Given the description of an element on the screen output the (x, y) to click on. 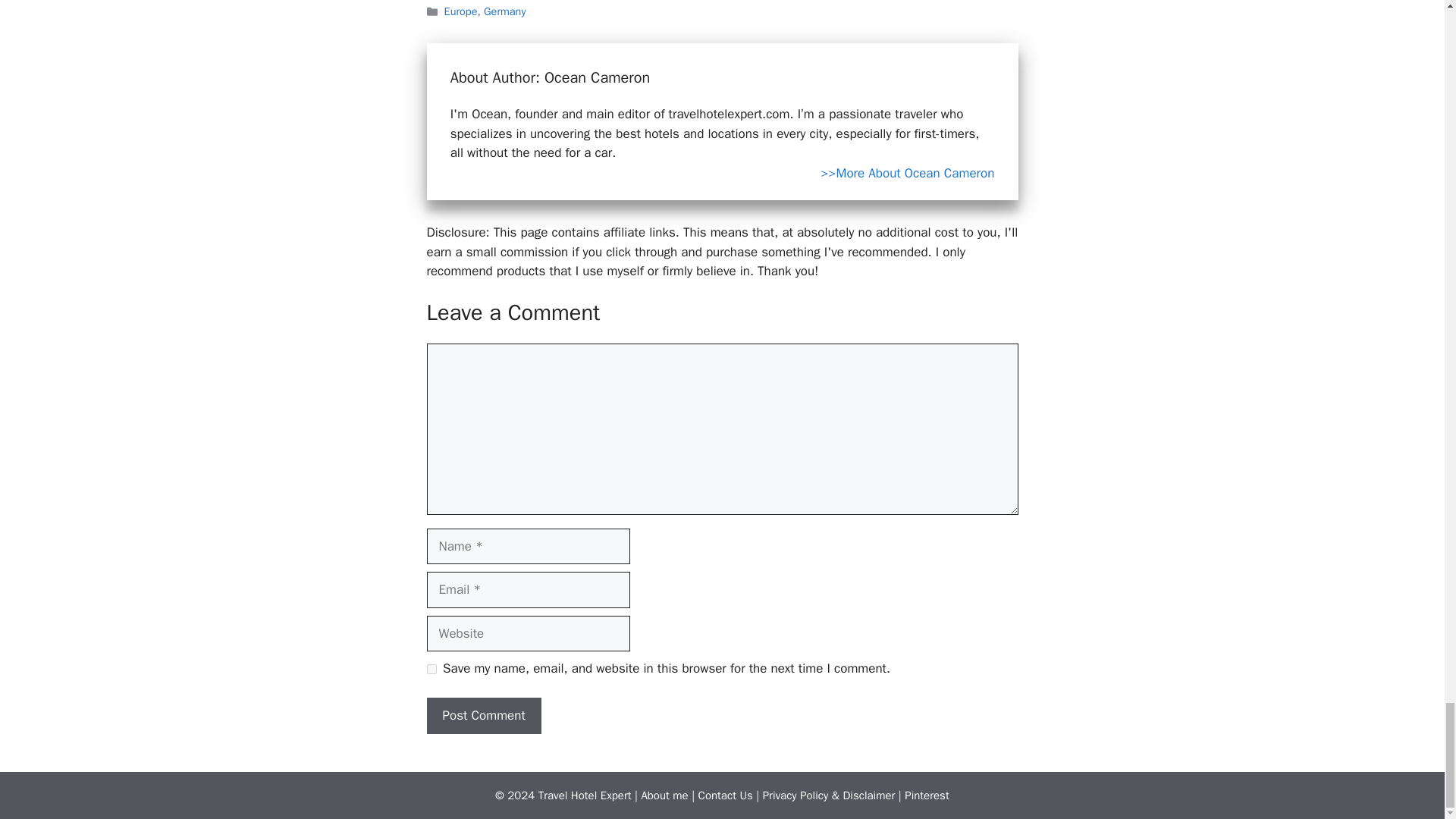
Read more (907, 173)
yes (430, 668)
Post Comment (483, 715)
